Given the description of an element on the screen output the (x, y) to click on. 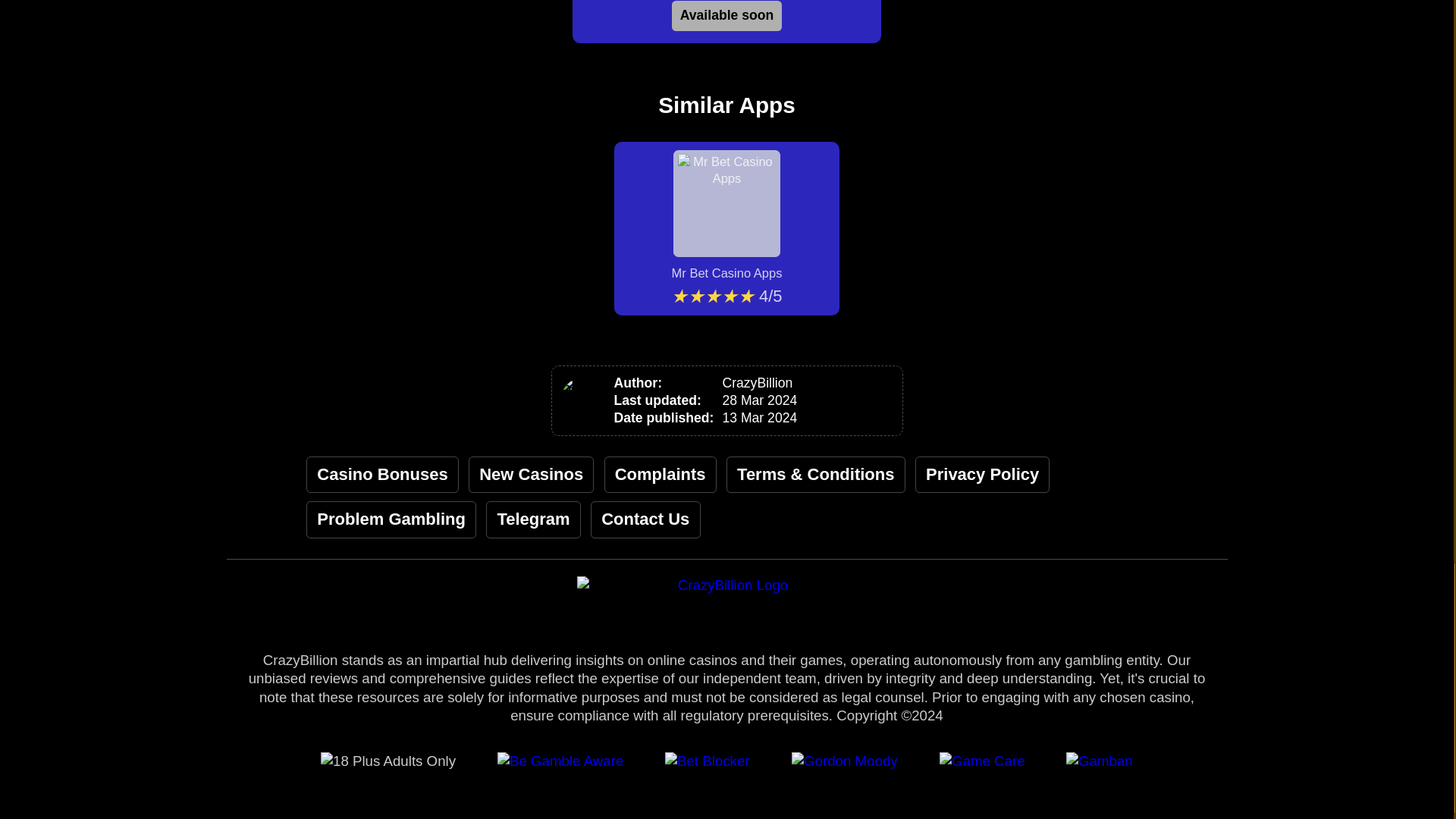
Mr Bet Casino Apps (727, 215)
